Given the description of an element on the screen output the (x, y) to click on. 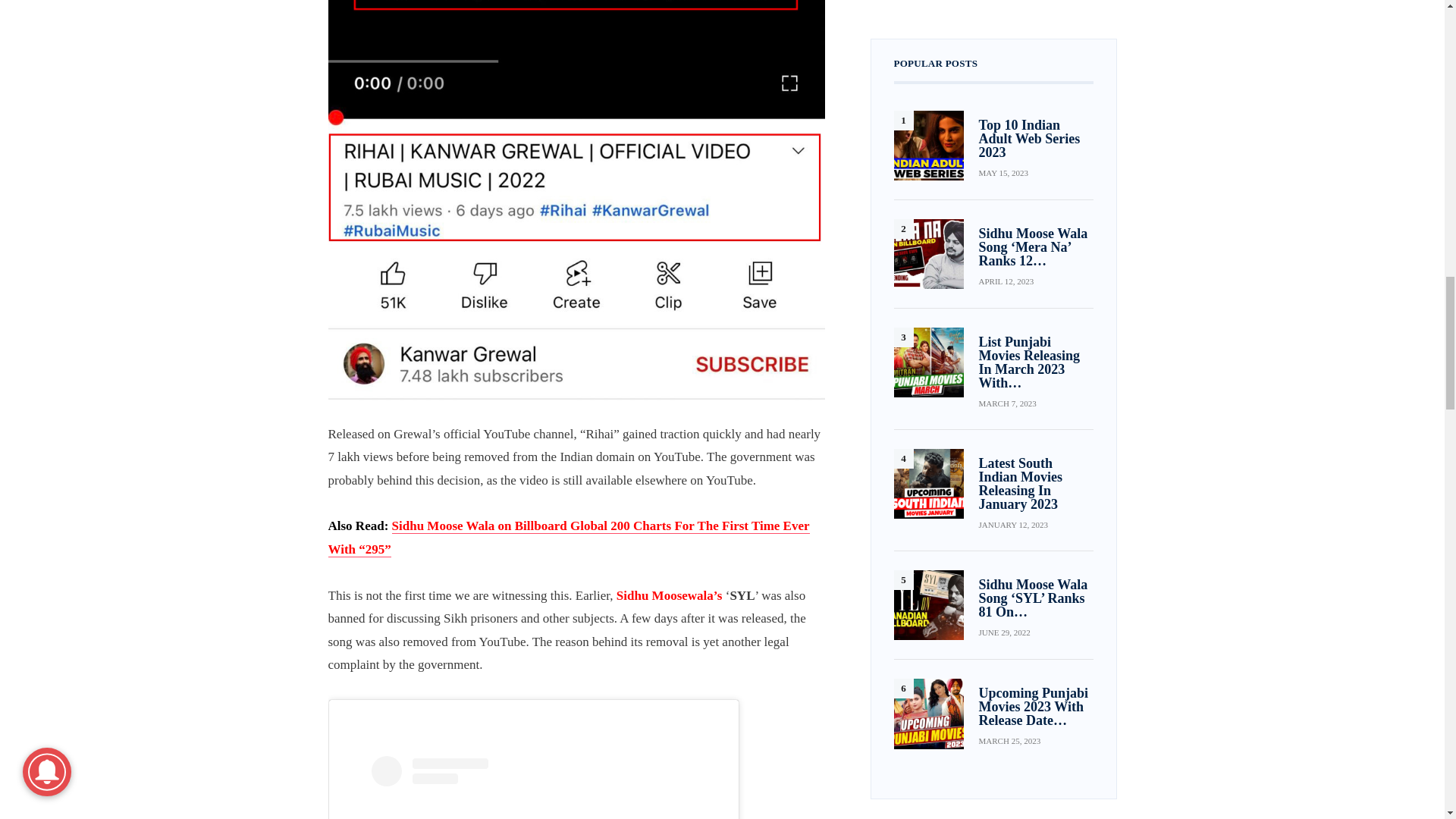
Top 10 Indian Adult Web Series 2023 (927, 145)
